Given the description of an element on the screen output the (x, y) to click on. 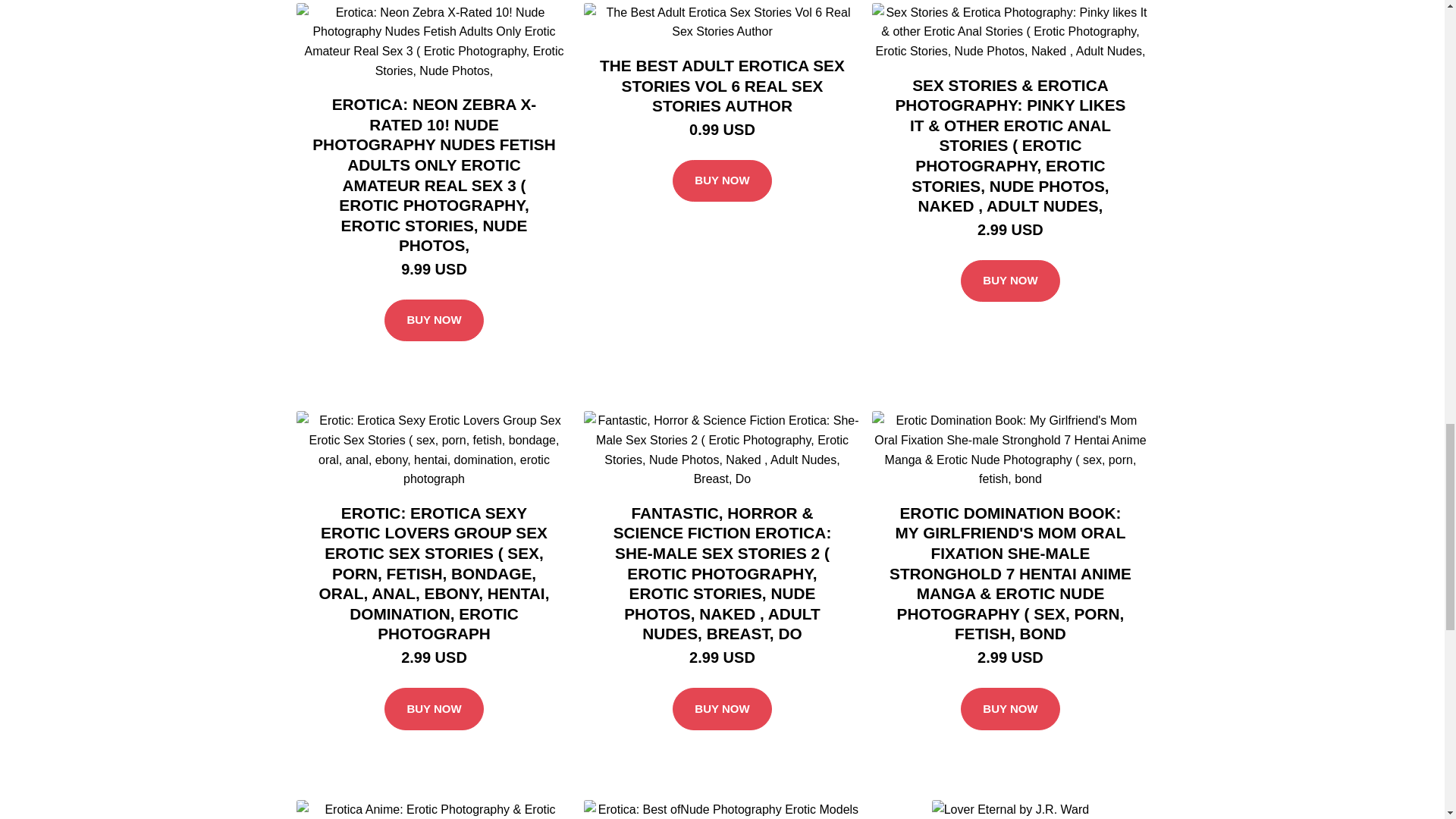
BUY NOW (433, 320)
